Given the description of an element on the screen output the (x, y) to click on. 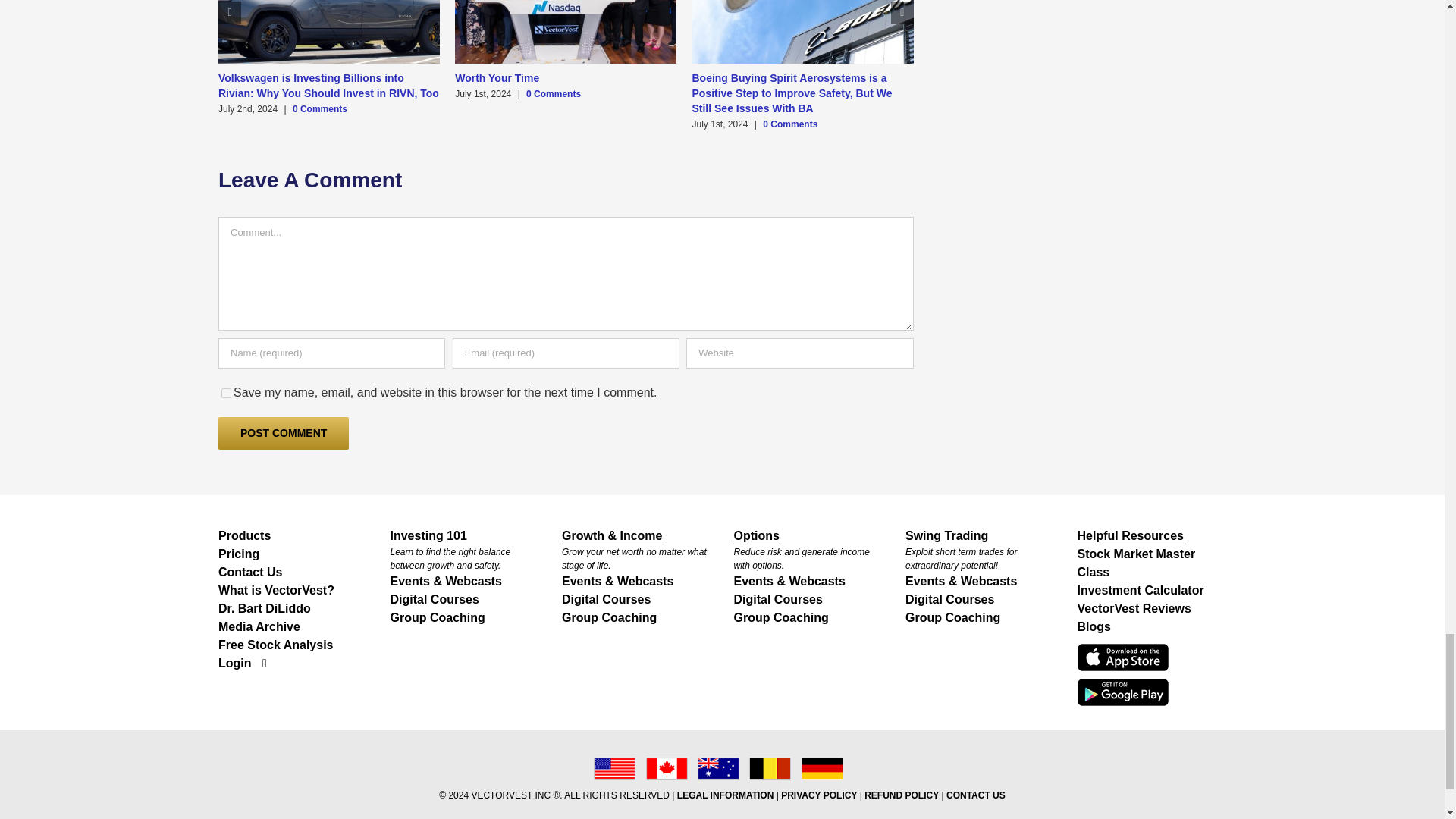
Post Comment (283, 432)
Worth Your Time (496, 78)
yes (226, 393)
